Given the description of an element on the screen output the (x, y) to click on. 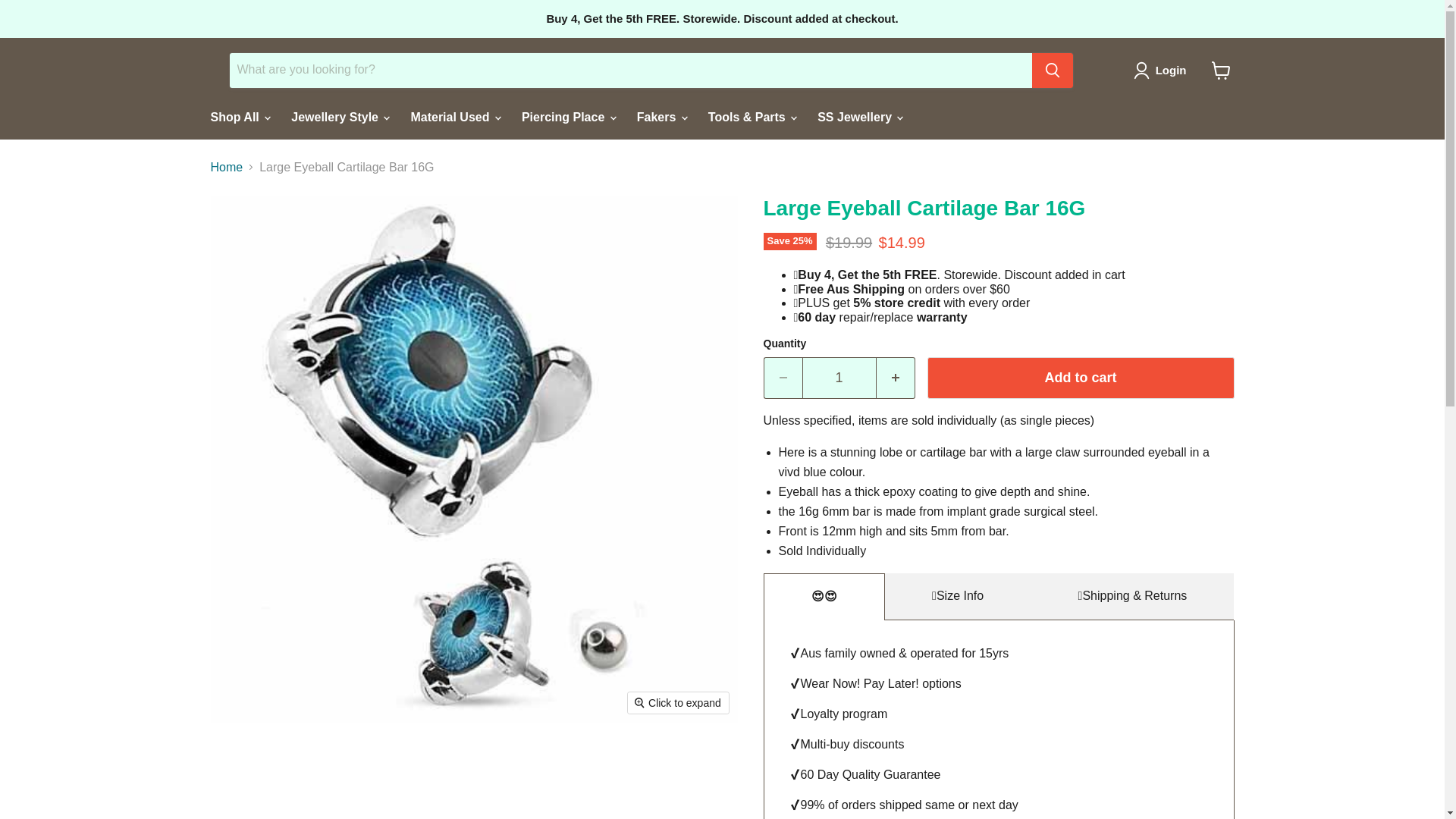
View cart (1221, 69)
Login (1163, 70)
1 (839, 377)
